Given the description of an element on the screen output the (x, y) to click on. 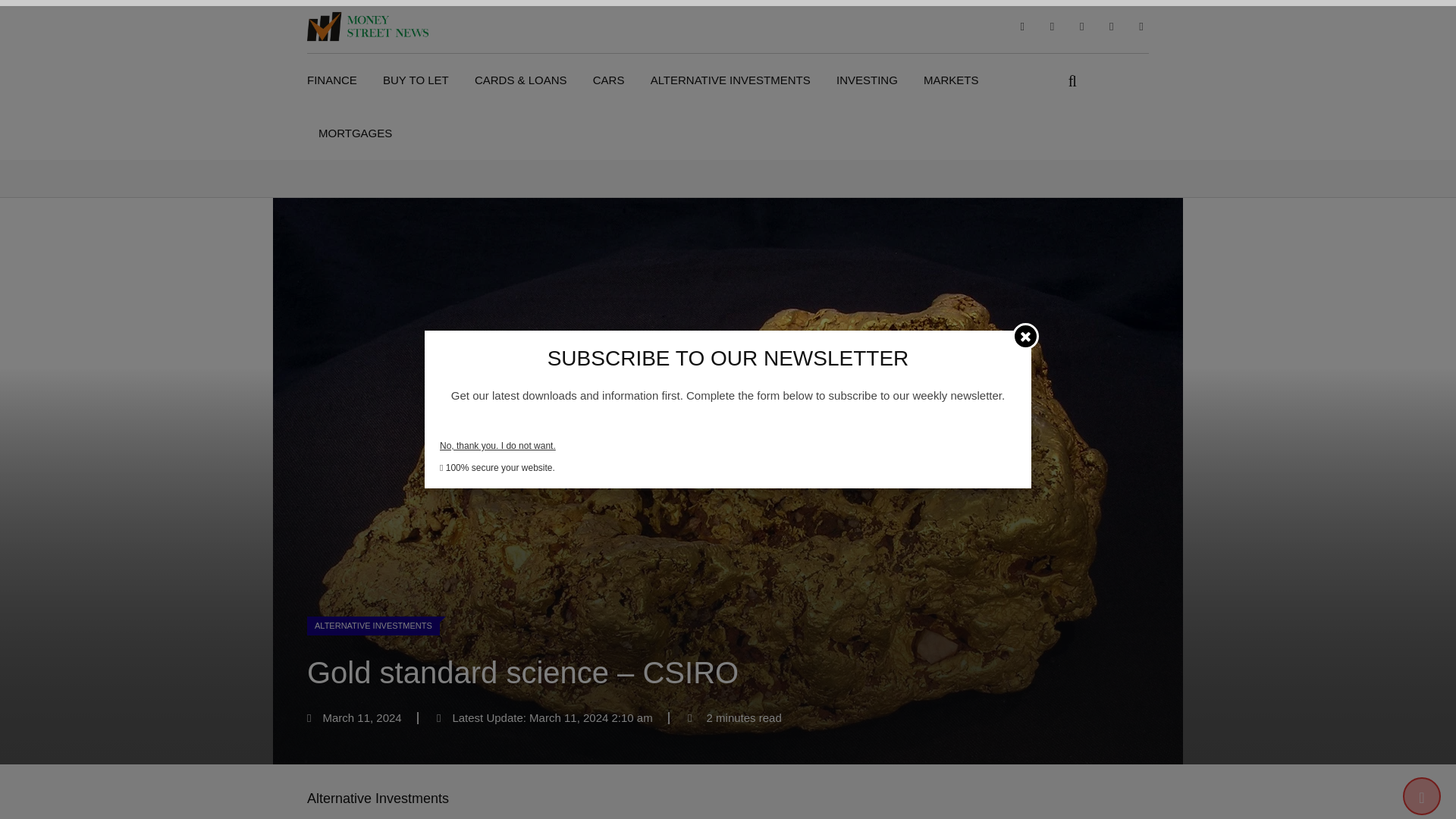
MARKETS (951, 80)
Alternative Investments (377, 798)
INVESTING (866, 80)
ALTERNATIVE INVESTMENTS (379, 623)
CARS (608, 80)
FINANCE (337, 80)
BUY TO LET (415, 80)
ALTERNATIVE INVESTMENTS (730, 80)
MORTGAGES (355, 133)
